Given the description of an element on the screen output the (x, y) to click on. 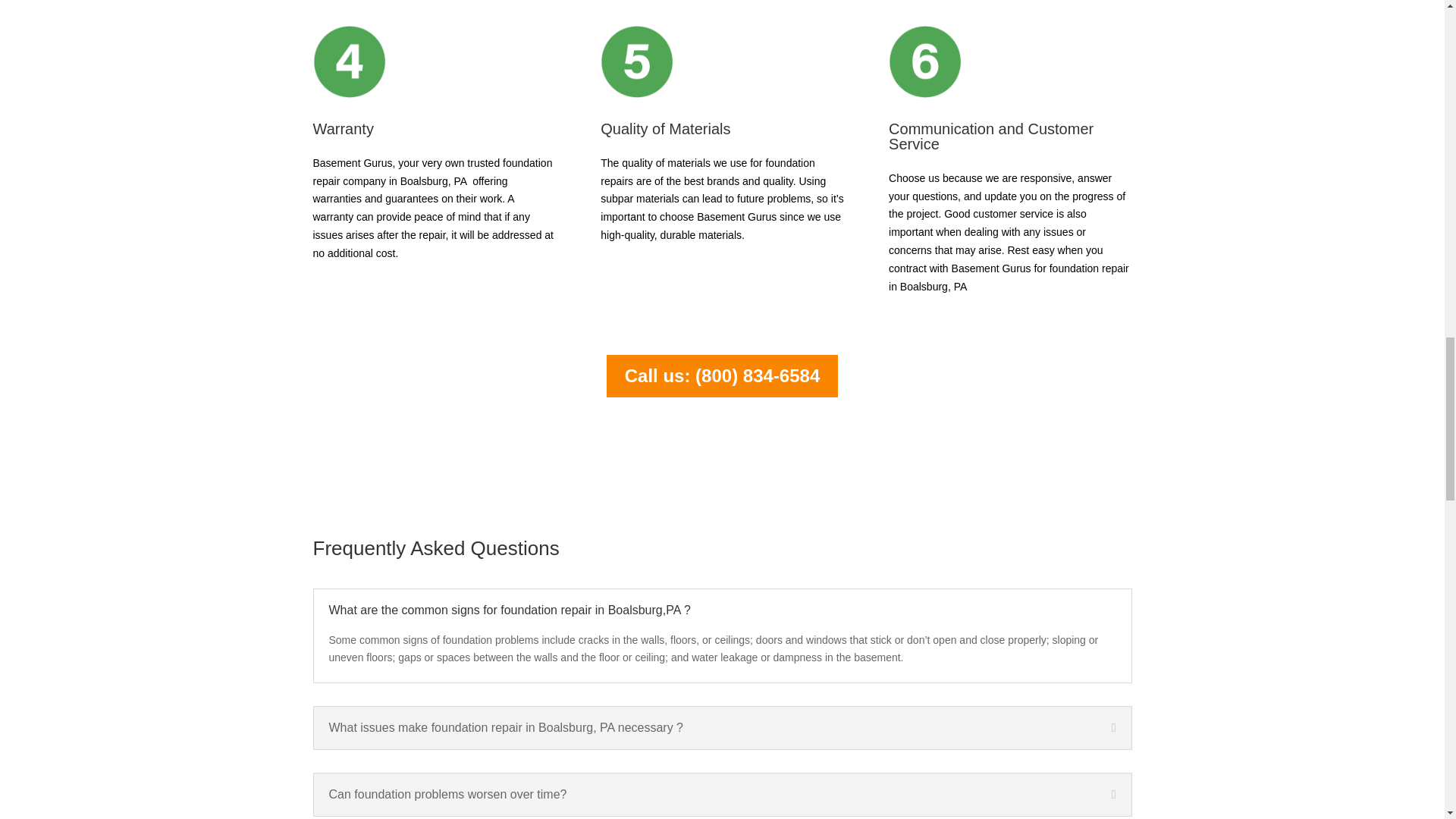
6-02 (924, 61)
4-02 (349, 61)
5-02 (635, 61)
